Given the description of an element on the screen output the (x, y) to click on. 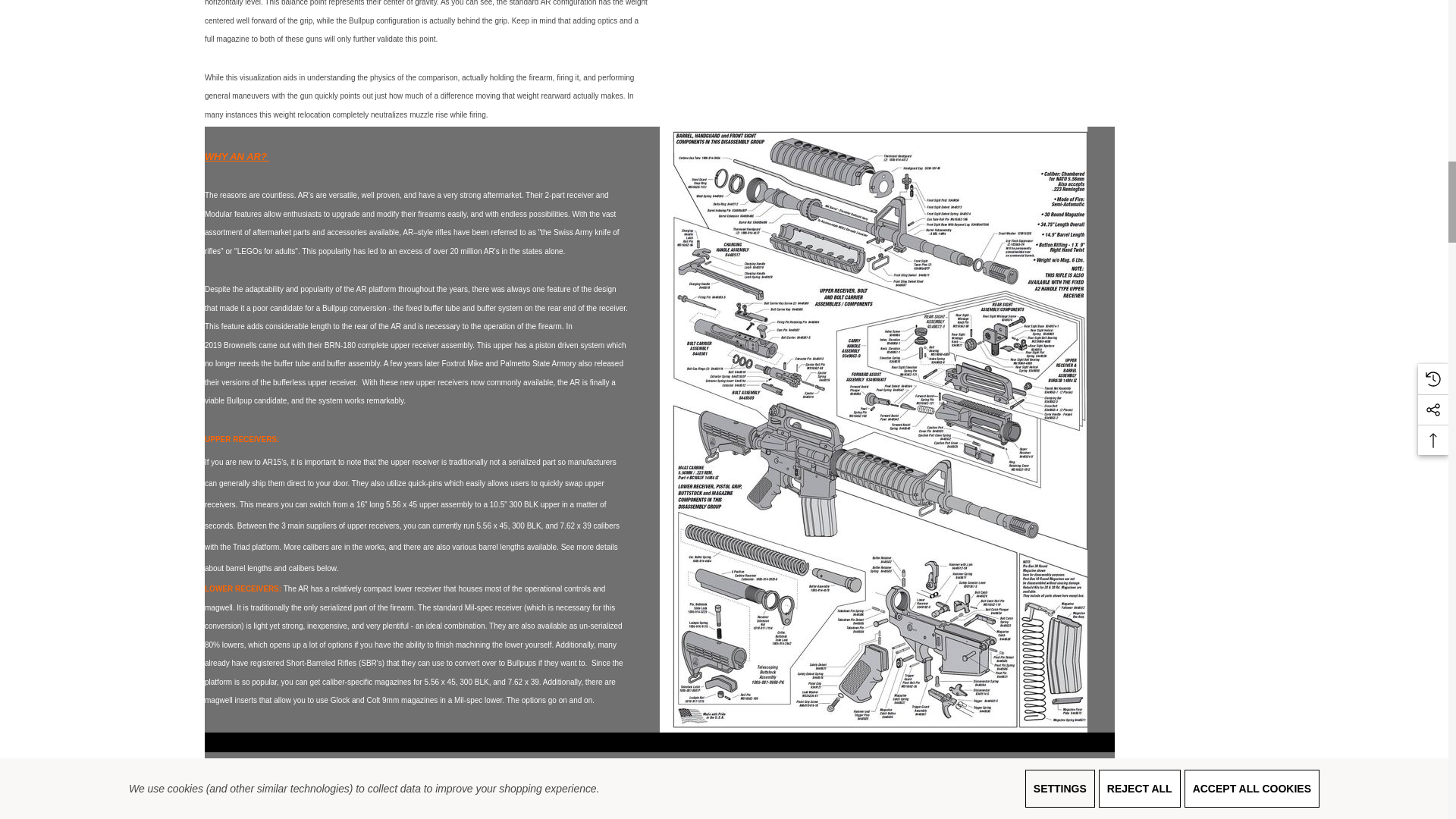
uppers.jpg (871, 795)
